Given the description of an element on the screen output the (x, y) to click on. 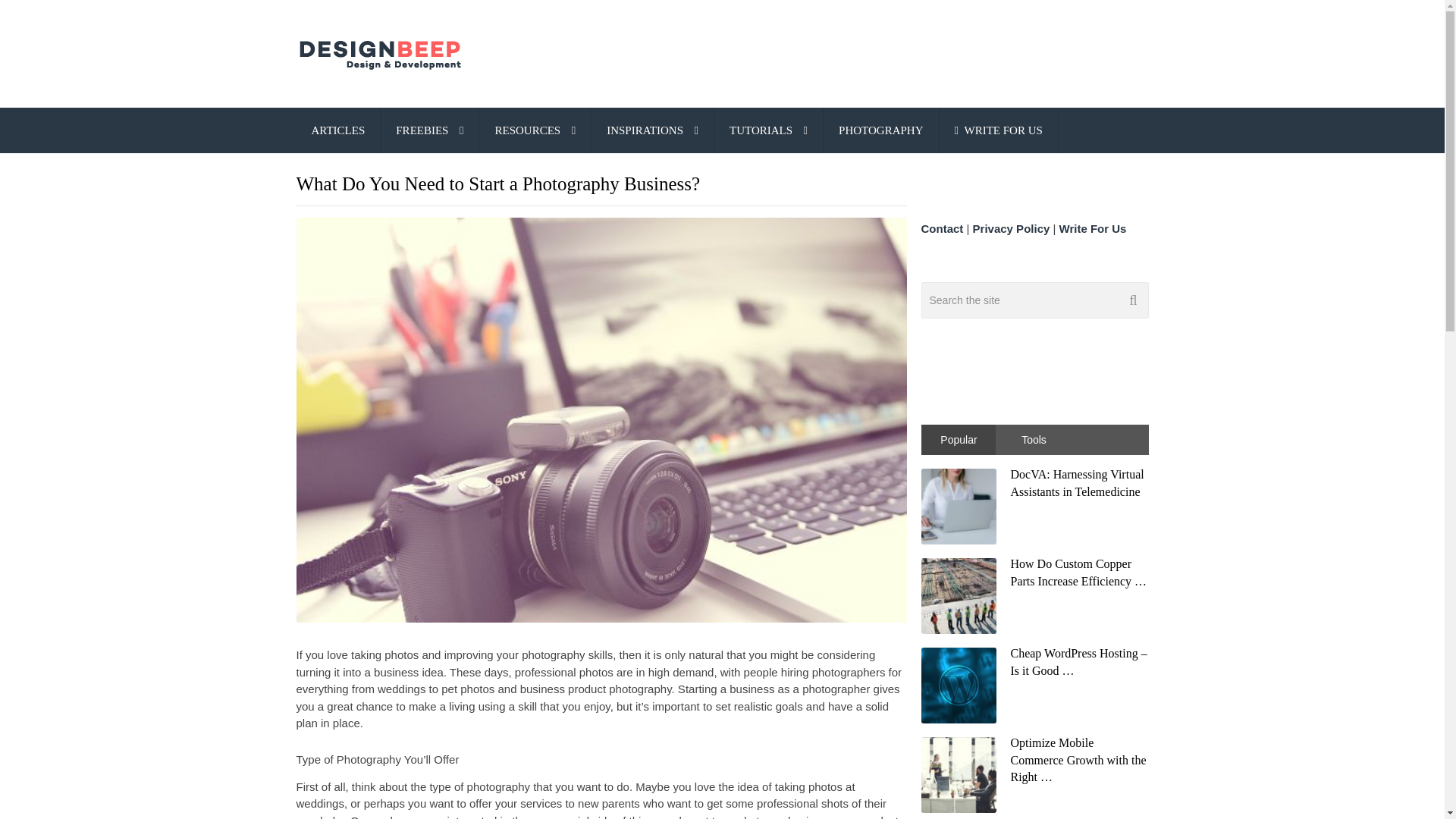
WRITE FOR US (998, 130)
INSPIRATIONS (652, 130)
ARTICLES (337, 130)
TUTORIALS (768, 130)
RESOURCES (535, 130)
PHOTOGRAPHY (880, 130)
FREEBIES (429, 130)
